Given the description of an element on the screen output the (x, y) to click on. 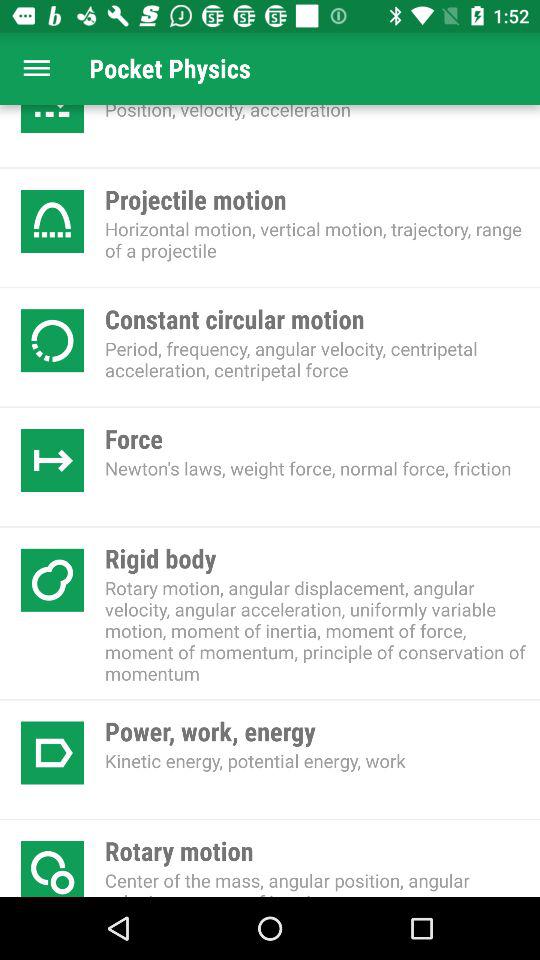
turn off the item next to pocket physics icon (36, 68)
